Given the description of an element on the screen output the (x, y) to click on. 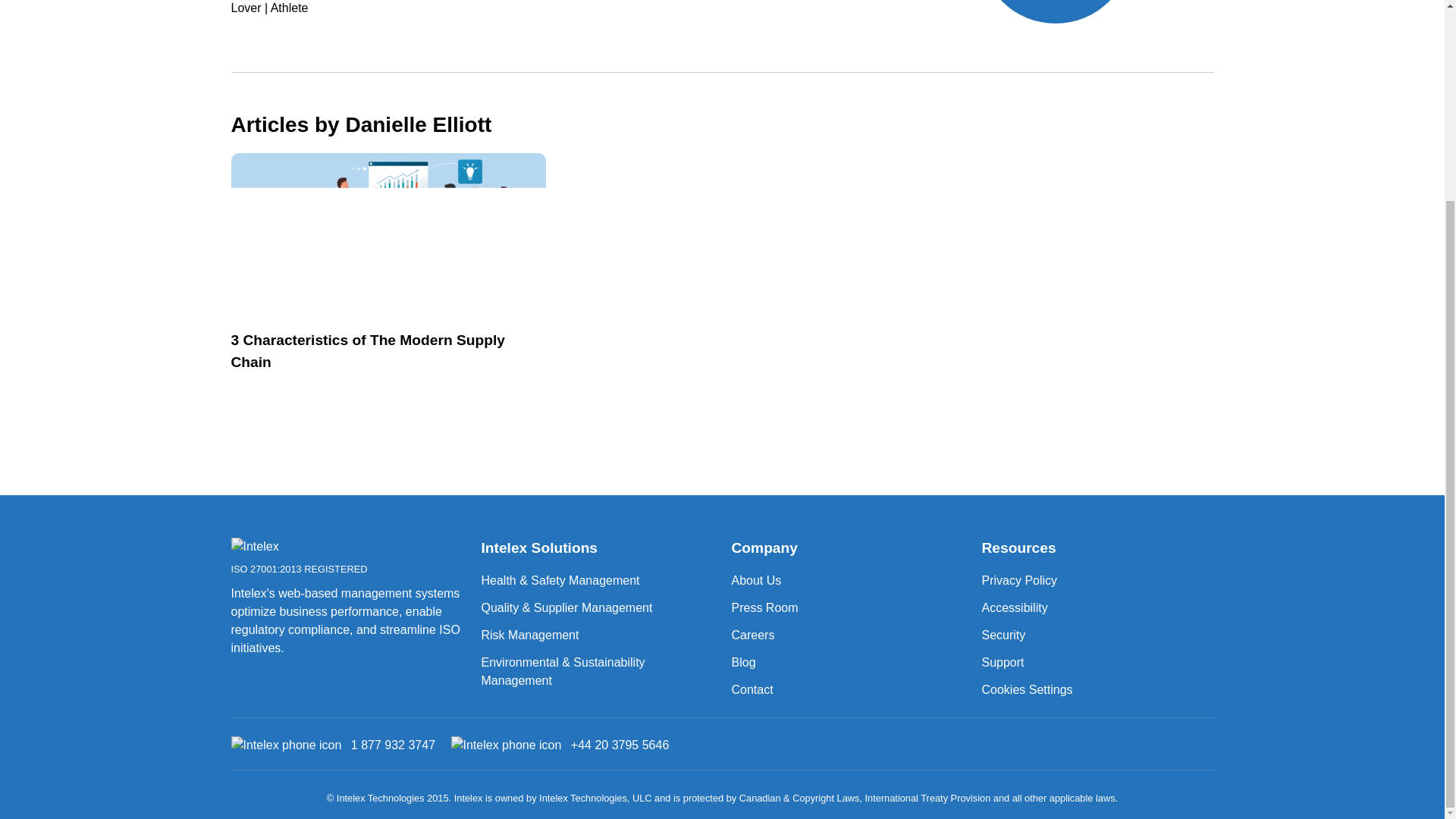
3 Characteristics of The Modern Supply Chain (291, 548)
